Given the description of an element on the screen output the (x, y) to click on. 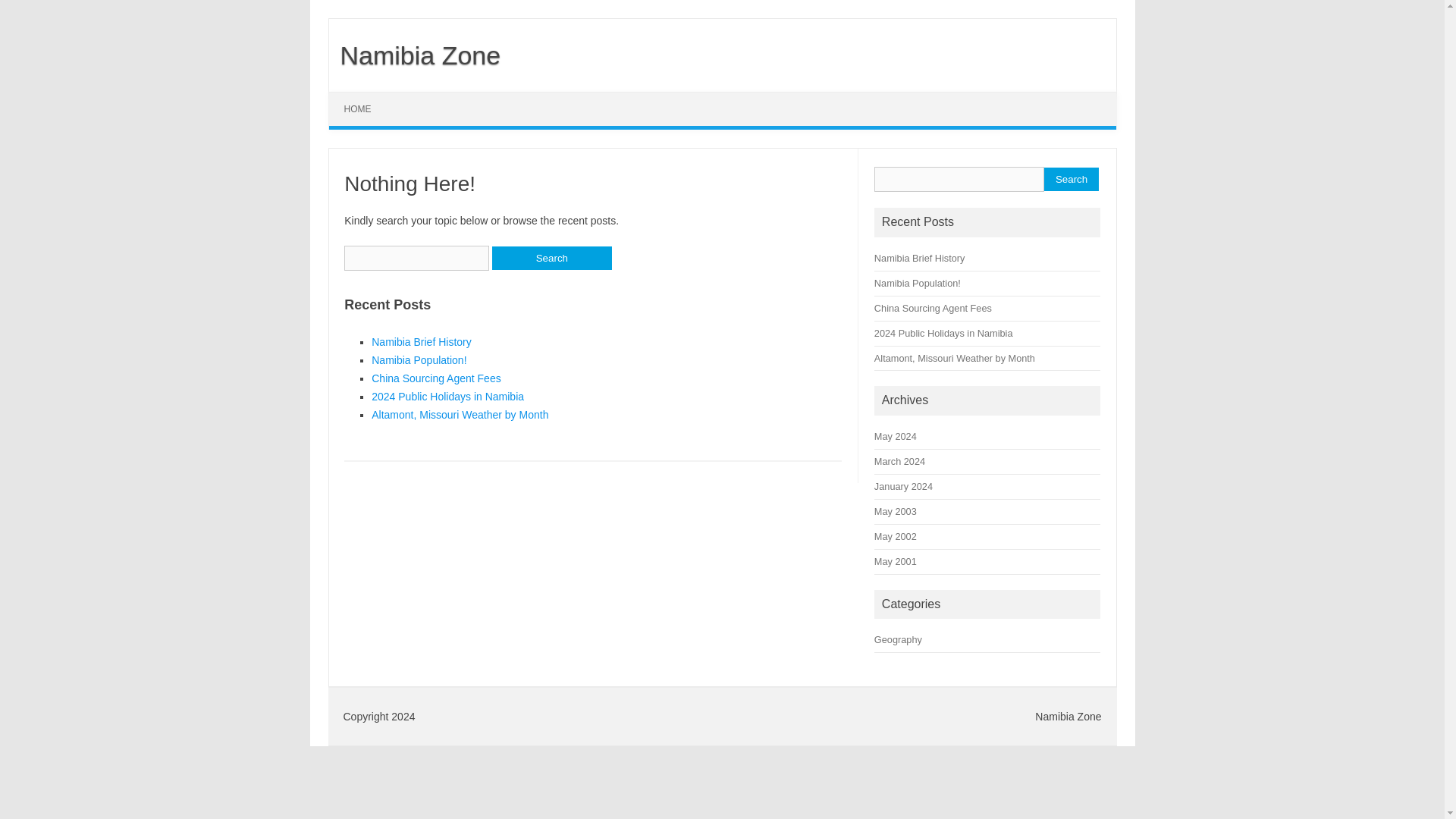
Altamont, Missouri Weather by Month (955, 357)
Altamont, Missouri Weather by Month (459, 414)
Skip to content (363, 96)
Namibia Population! (917, 283)
HOME (358, 109)
May 2001 (896, 561)
Namibia Population! (418, 359)
Search (551, 258)
China Sourcing Agent Fees (435, 378)
Search (1070, 178)
Geography (898, 639)
January 2024 (904, 486)
Namibia Brief History (420, 341)
May 2002 (896, 536)
Namibia Zone (414, 54)
